Given the description of an element on the screen output the (x, y) to click on. 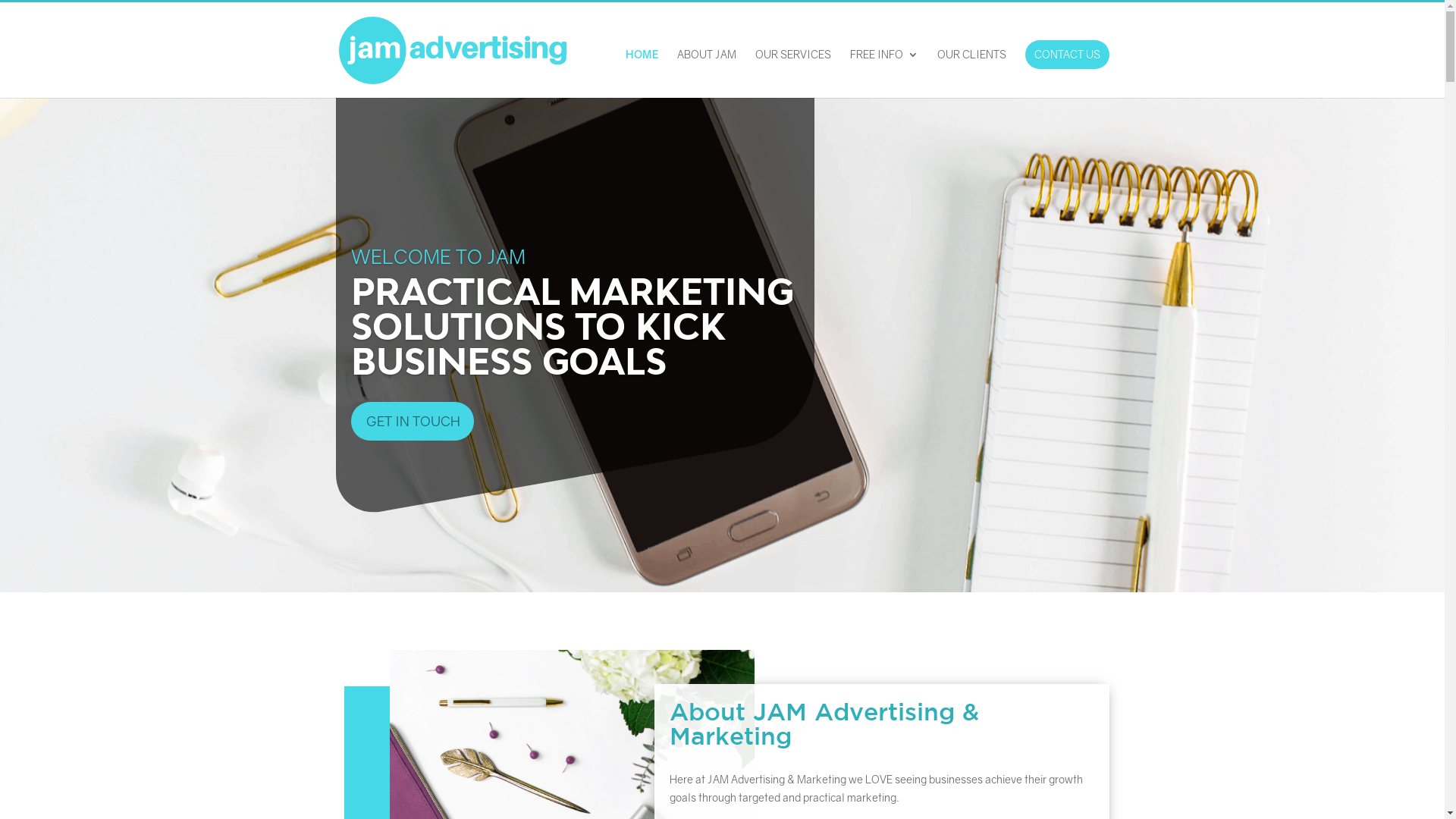
ABOUT JAM Element type: text (705, 73)
OUR CLIENTS Element type: text (971, 73)
WELCOME TO JAM Element type: text (437, 256)
OUR SERVICES Element type: text (793, 73)
HOME Element type: text (640, 73)
FREE INFO Element type: text (883, 73)
CONTACT US Element type: text (1067, 54)
GET IN TOUCH Element type: text (411, 420)
